Given the description of an element on the screen output the (x, y) to click on. 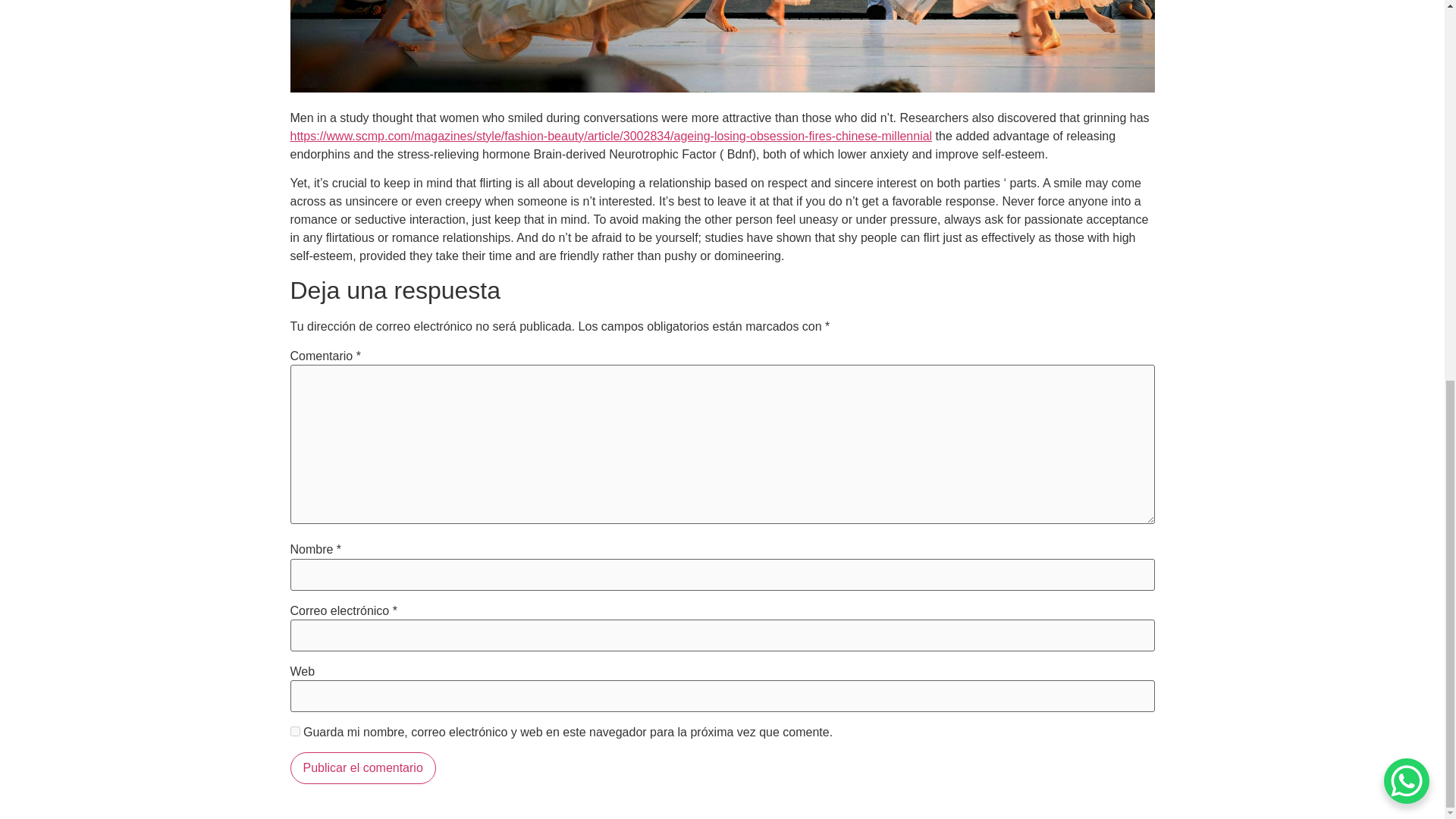
yes (294, 731)
Publicar el comentario (362, 767)
Publicar el comentario (362, 767)
